Given the description of an element on the screen output the (x, y) to click on. 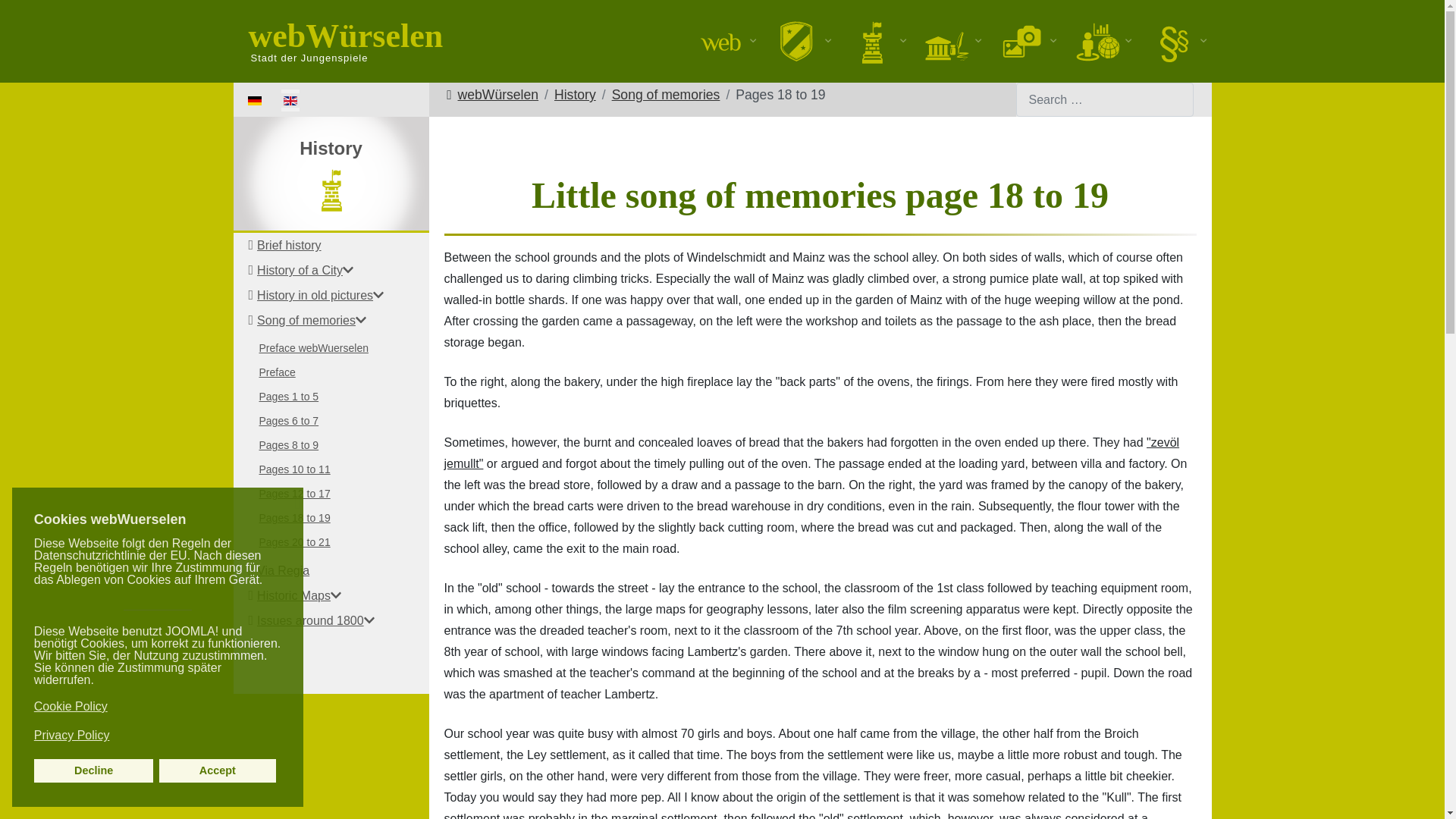
Privacy Policy (155, 735)
Accept (217, 770)
Decline (93, 770)
Cookie Policy (155, 706)
